Given the description of an element on the screen output the (x, y) to click on. 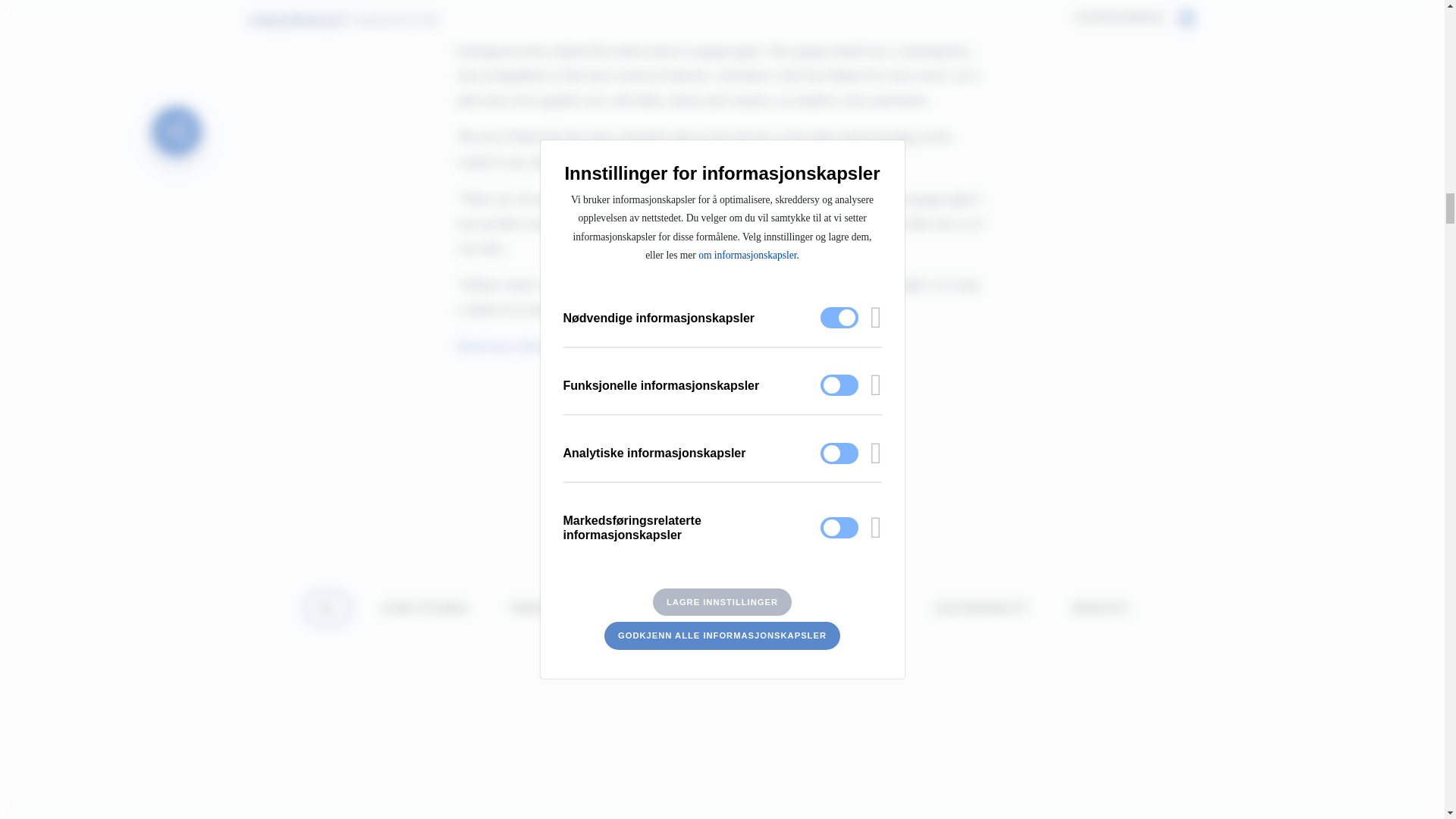
PORTRAITS (857, 608)
TRENDS (636, 608)
KNOWLEDGE (741, 608)
INSIGHTS (1099, 608)
ALL (327, 608)
PRODUCT (539, 608)
SUSTAINABILITY (981, 608)
Read more about luminaire Fabian here.  (564, 345)
CASE STUDIES (423, 608)
